Given the description of an element on the screen output the (x, y) to click on. 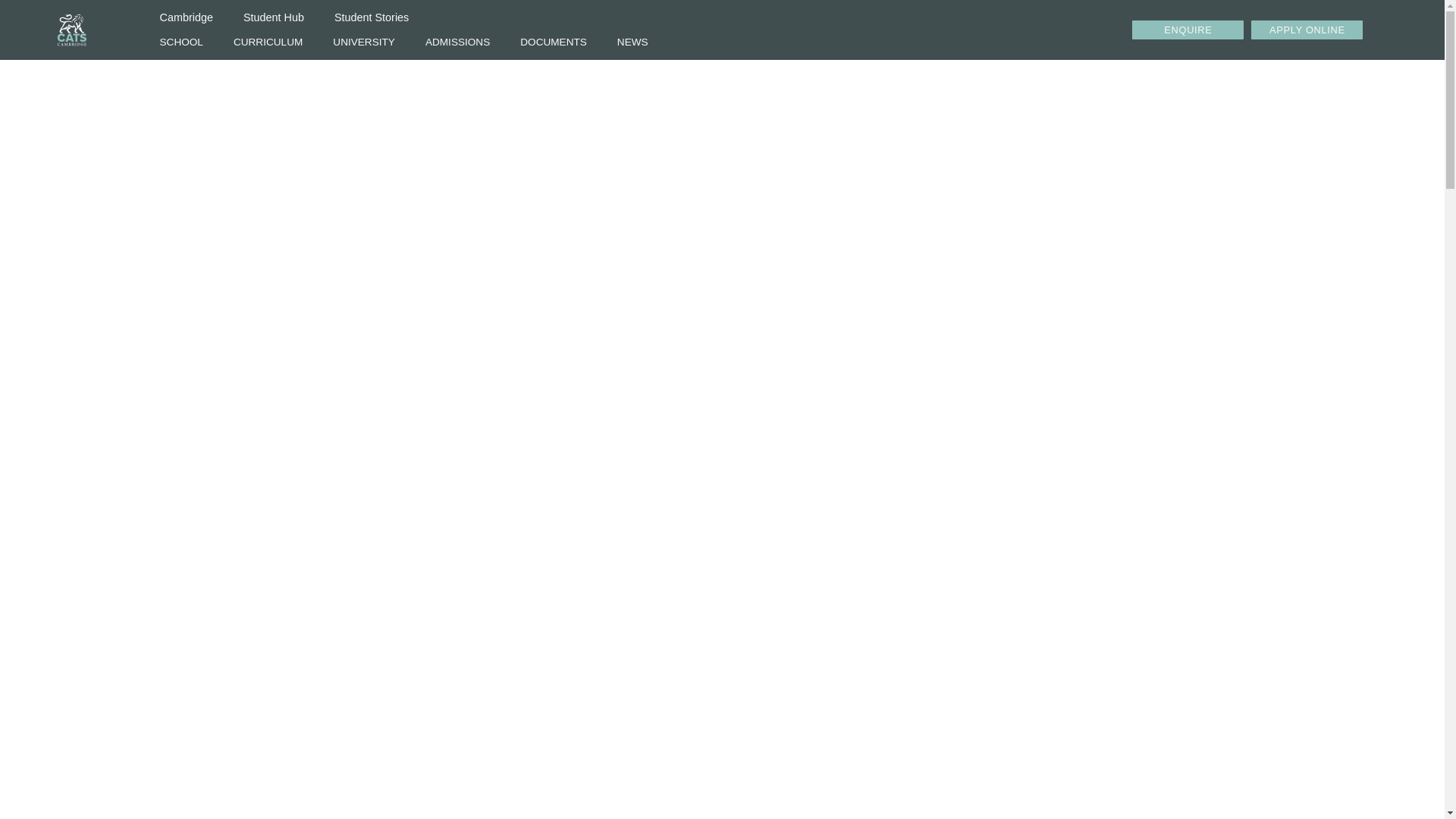
ADMISSIONS (457, 42)
SCHOOL (180, 42)
UNIVERSITY (363, 42)
Student Stories (370, 17)
Cambridge (185, 17)
CURRICULUM (267, 42)
DOCUMENTS (553, 42)
Student Hub (273, 17)
